Given the description of an element on the screen output the (x, y) to click on. 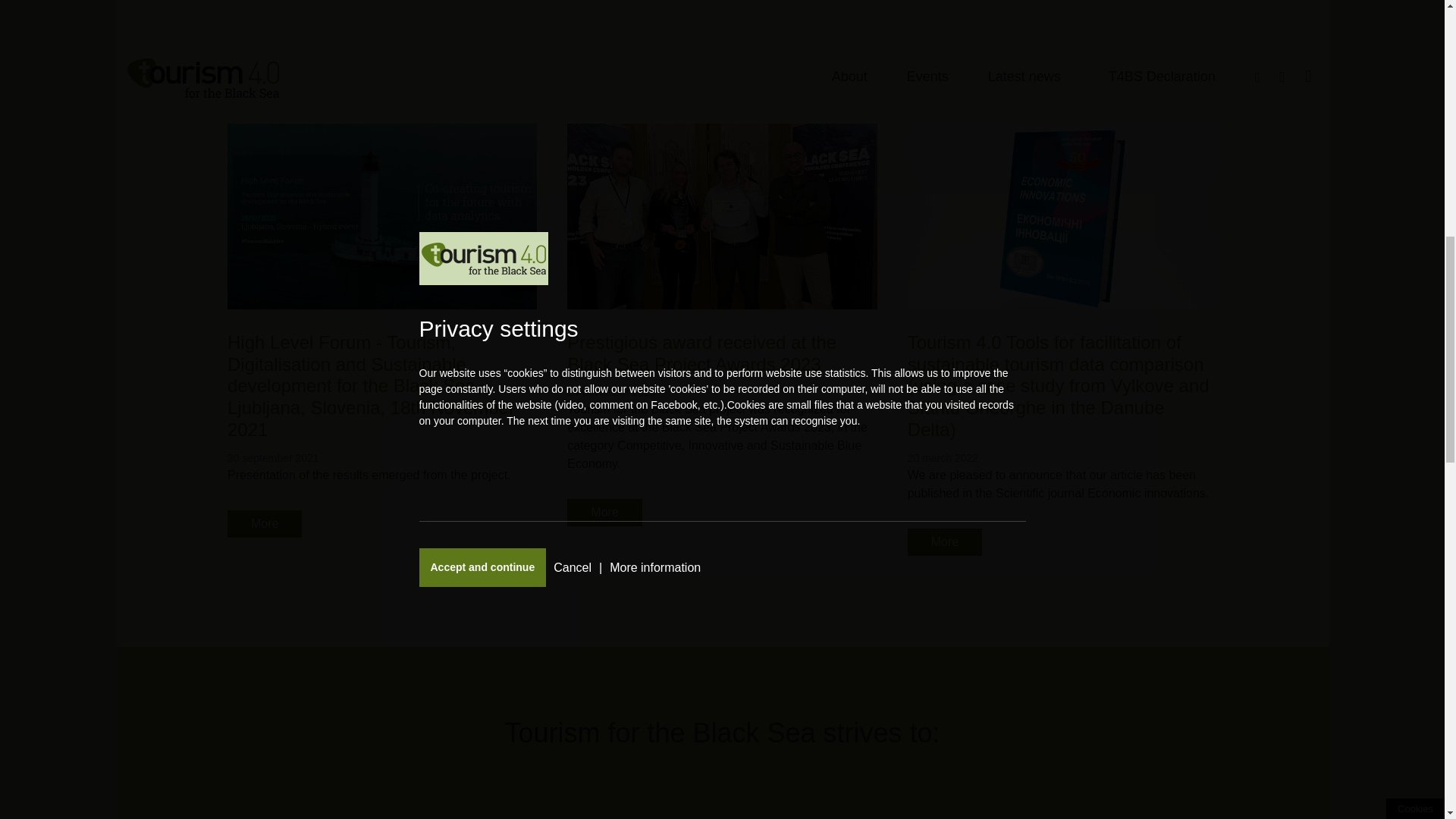
More (604, 512)
More (944, 542)
More (264, 523)
